Given the description of an element on the screen output the (x, y) to click on. 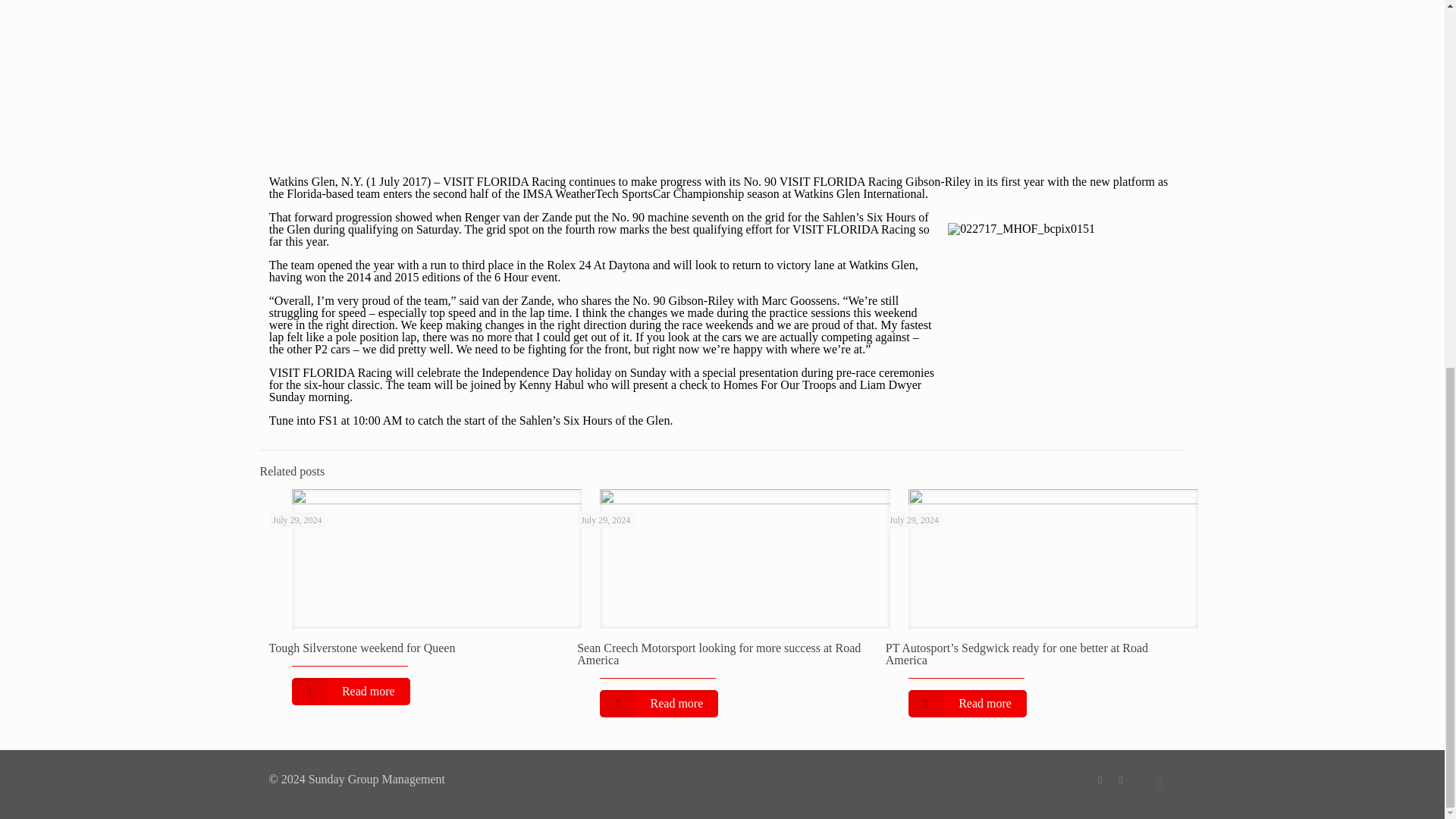
Read more (350, 691)
Tough Silverstone weekend for Queen (360, 647)
Twitter (1121, 779)
Read more (658, 703)
Read more (967, 703)
Facebook (1100, 779)
